Given the description of an element on the screen output the (x, y) to click on. 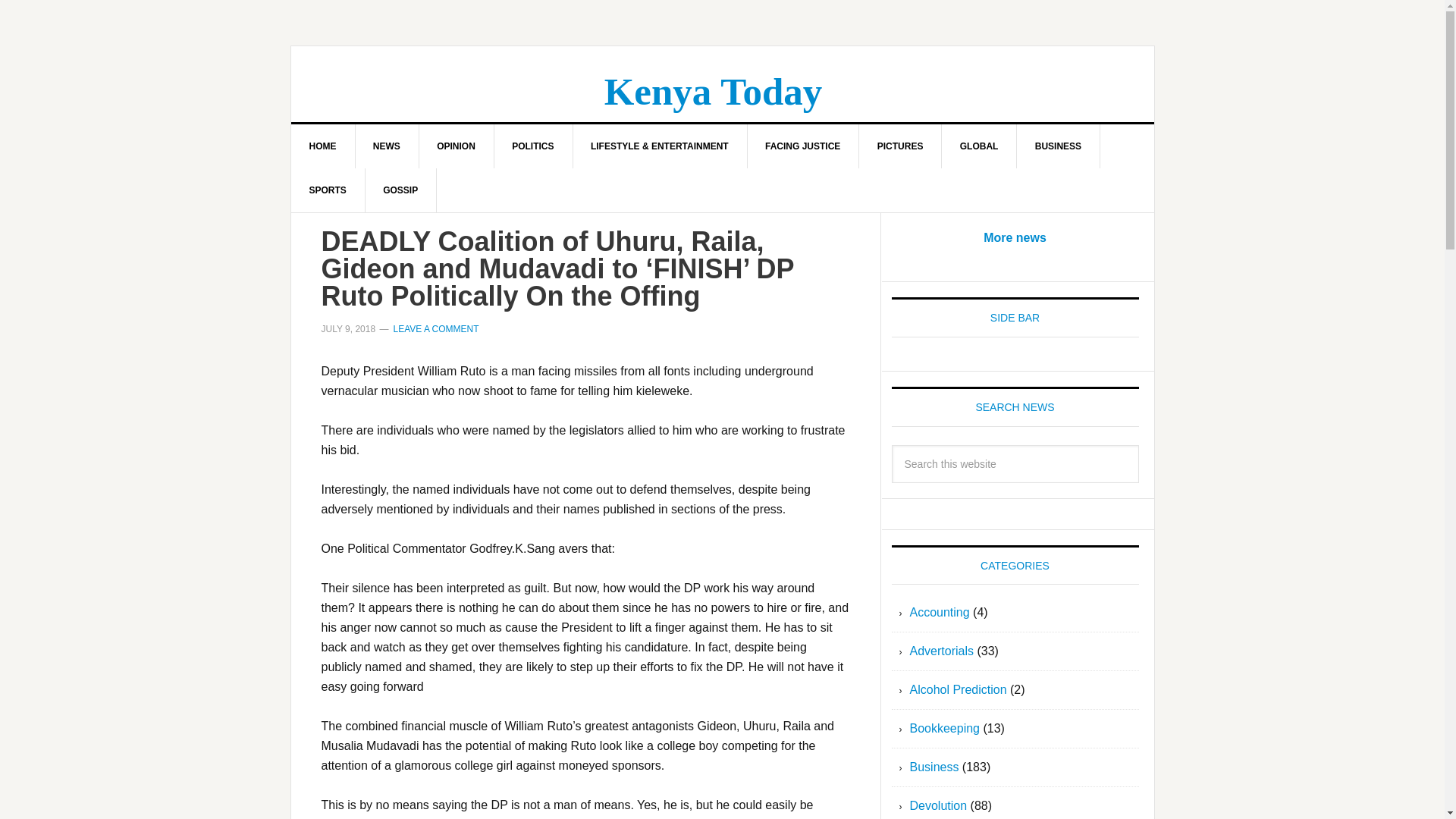
FACING JUSTICE (802, 146)
Advertorials (942, 650)
HOME (323, 146)
NEWS (387, 146)
SPORTS (328, 190)
More news (1015, 237)
Alcohol Prediction (958, 689)
Business (934, 766)
LEAVE A COMMENT (436, 328)
Devolution (939, 805)
Bookkeeping (944, 727)
OPINION (457, 146)
